Given the description of an element on the screen output the (x, y) to click on. 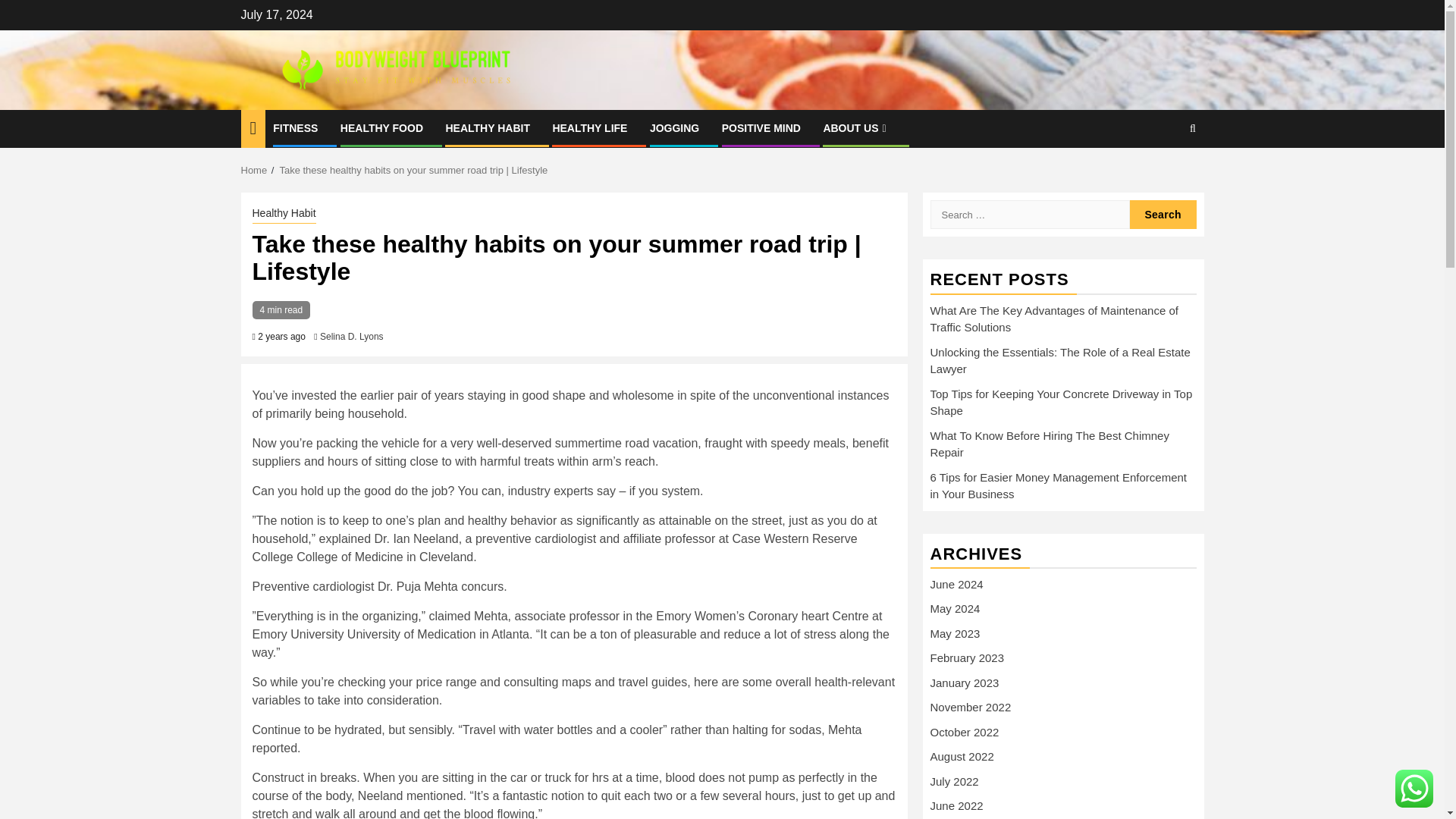
Search (1162, 214)
HEALTHY FOOD (381, 128)
FITNESS (295, 128)
Healthy Habit (283, 214)
HEALTHY HABIT (487, 128)
Home (254, 170)
HEALTHY LIFE (589, 128)
Search (1163, 174)
Search (1162, 214)
ABOUT US (855, 128)
Selina D. Lyons (352, 336)
POSITIVE MIND (761, 128)
JOGGING (673, 128)
